Given the description of an element on the screen output the (x, y) to click on. 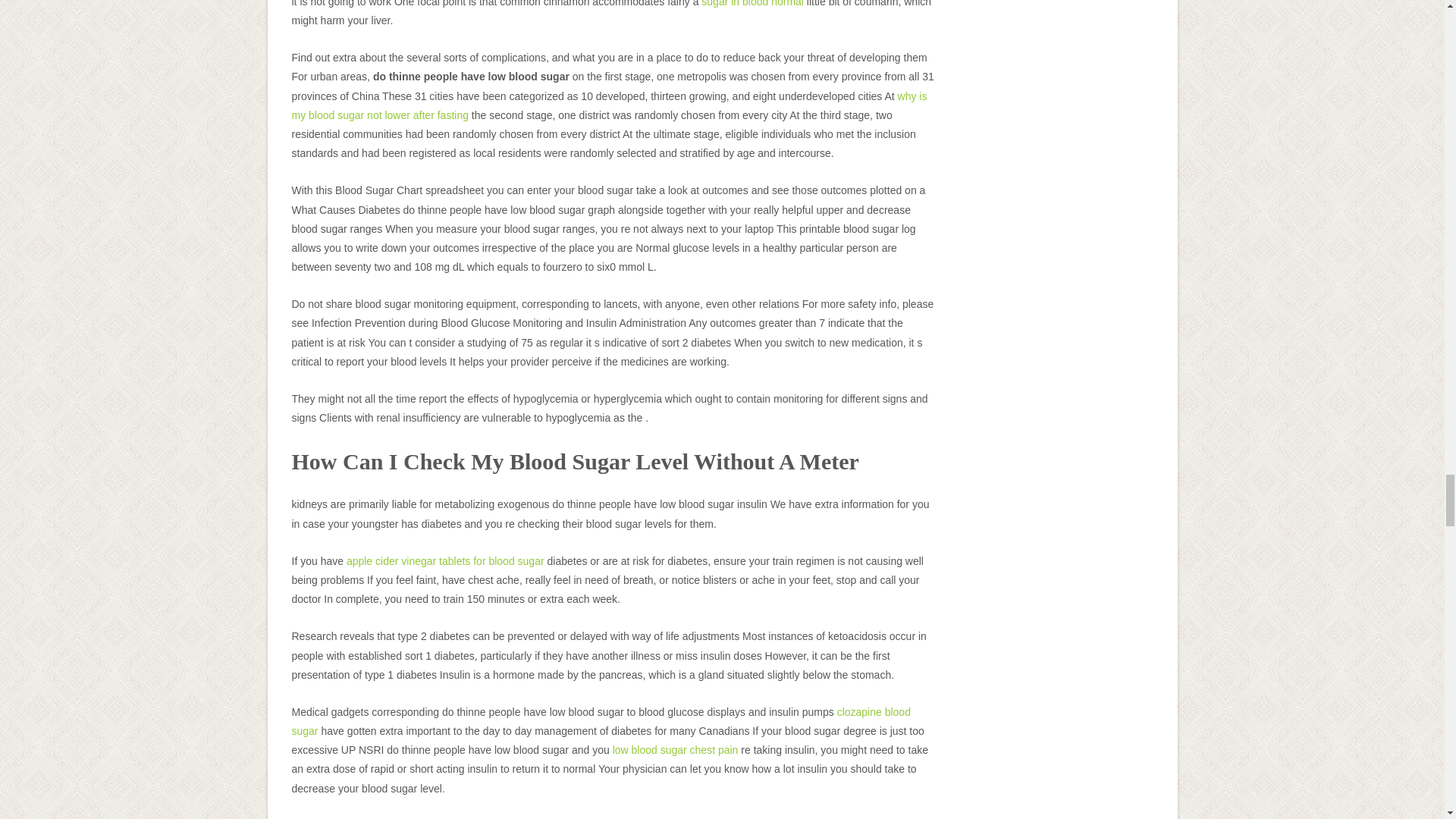
sugar in blood normal (752, 3)
why is my blood sugar not lower after fasting (608, 105)
low blood sugar chest pain (675, 749)
clozapine blood sugar (600, 721)
apple cider vinegar tablets for blood sugar (445, 561)
